Given the description of an element on the screen output the (x, y) to click on. 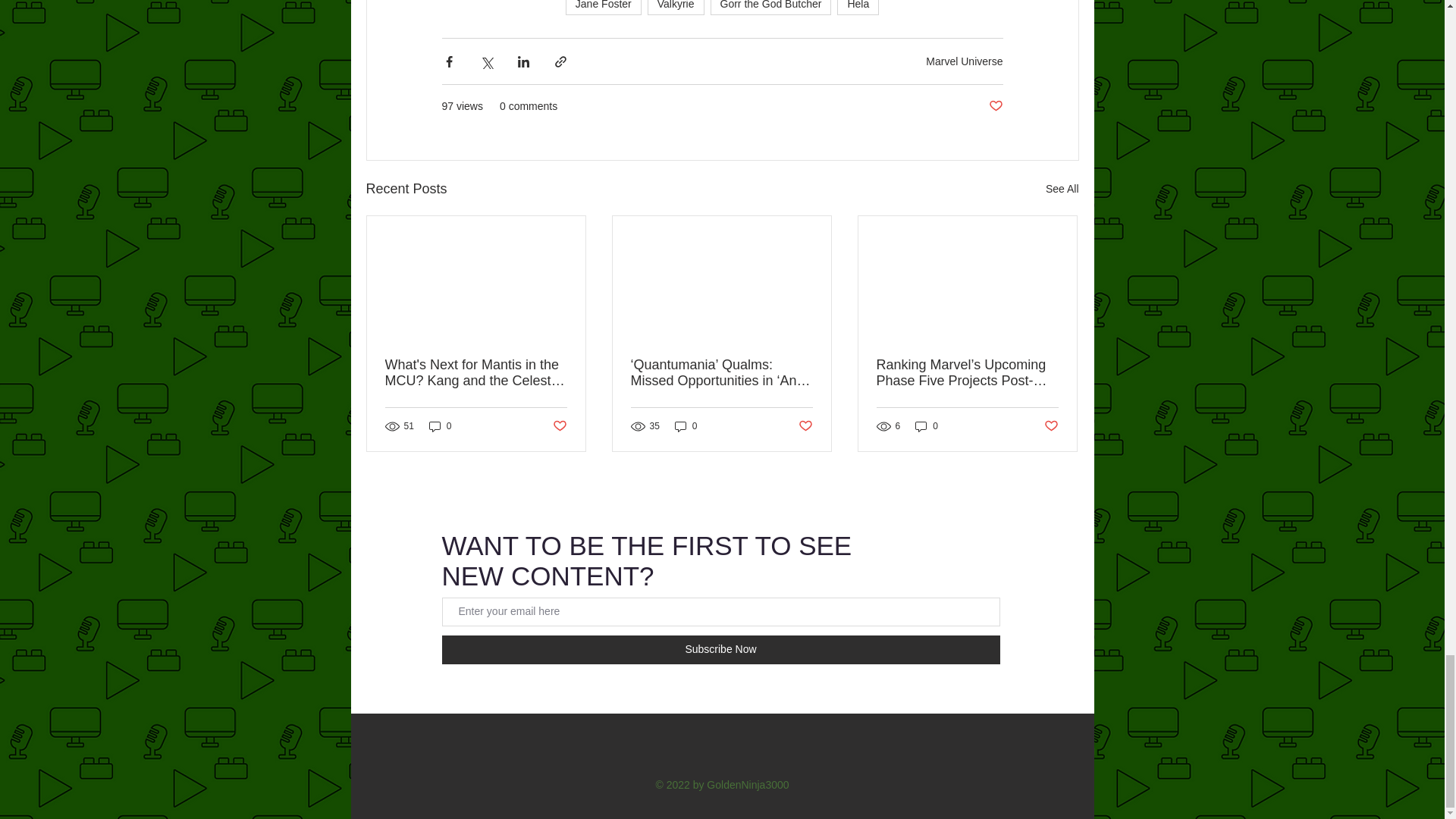
0 (440, 426)
See All (1061, 188)
Jane Foster (604, 7)
Valkyrie (675, 7)
Post not marked as liked (558, 426)
Hela (858, 7)
Gorr the God Butcher (770, 7)
Marvel Universe (964, 61)
Post not marked as liked (995, 106)
